Given the description of an element on the screen output the (x, y) to click on. 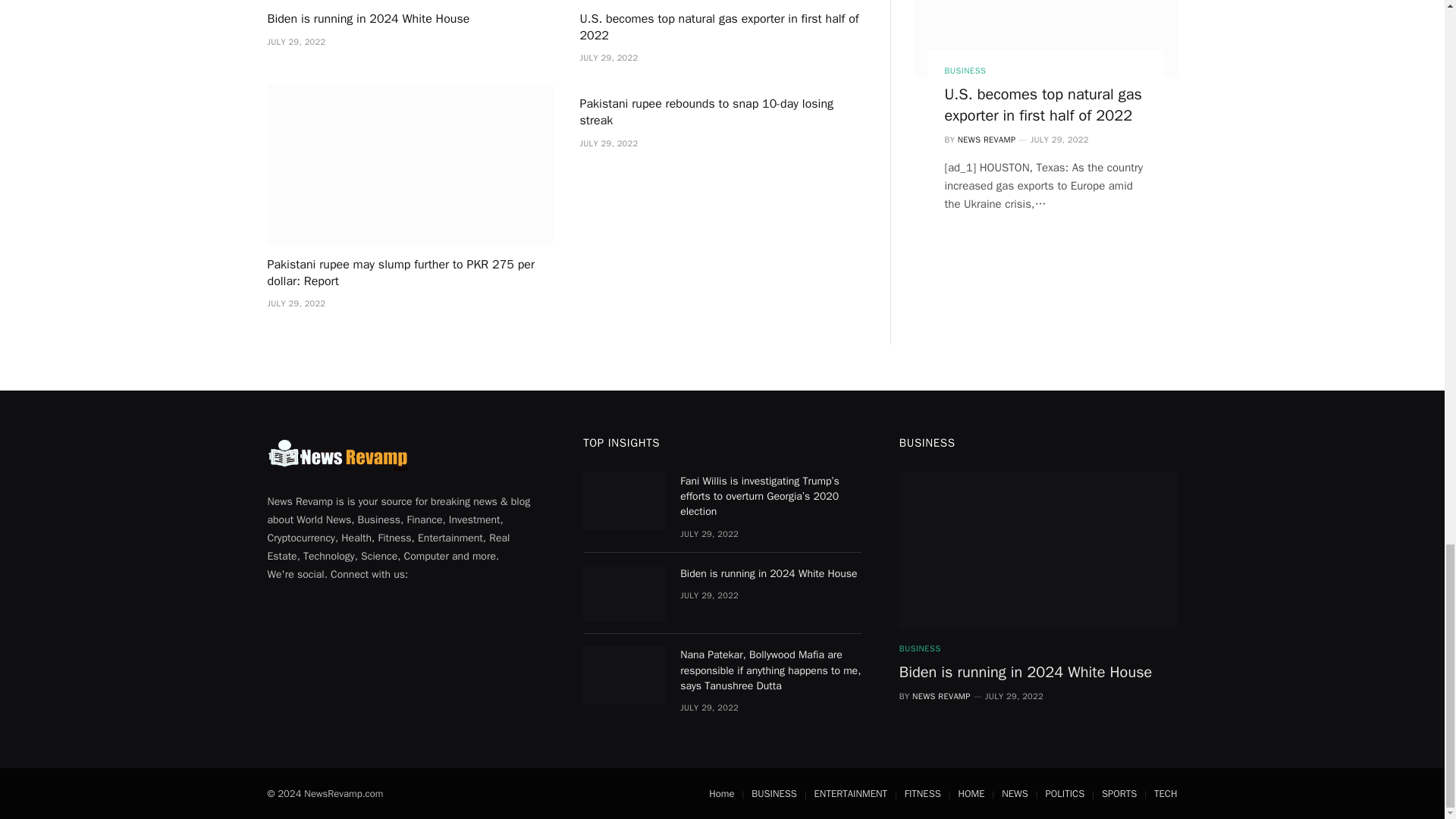
Biden is running in 2024 White House (408, 19)
U.S. becomes top natural gas exporter in first half of 2022 (721, 28)
